Given the description of an element on the screen output the (x, y) to click on. 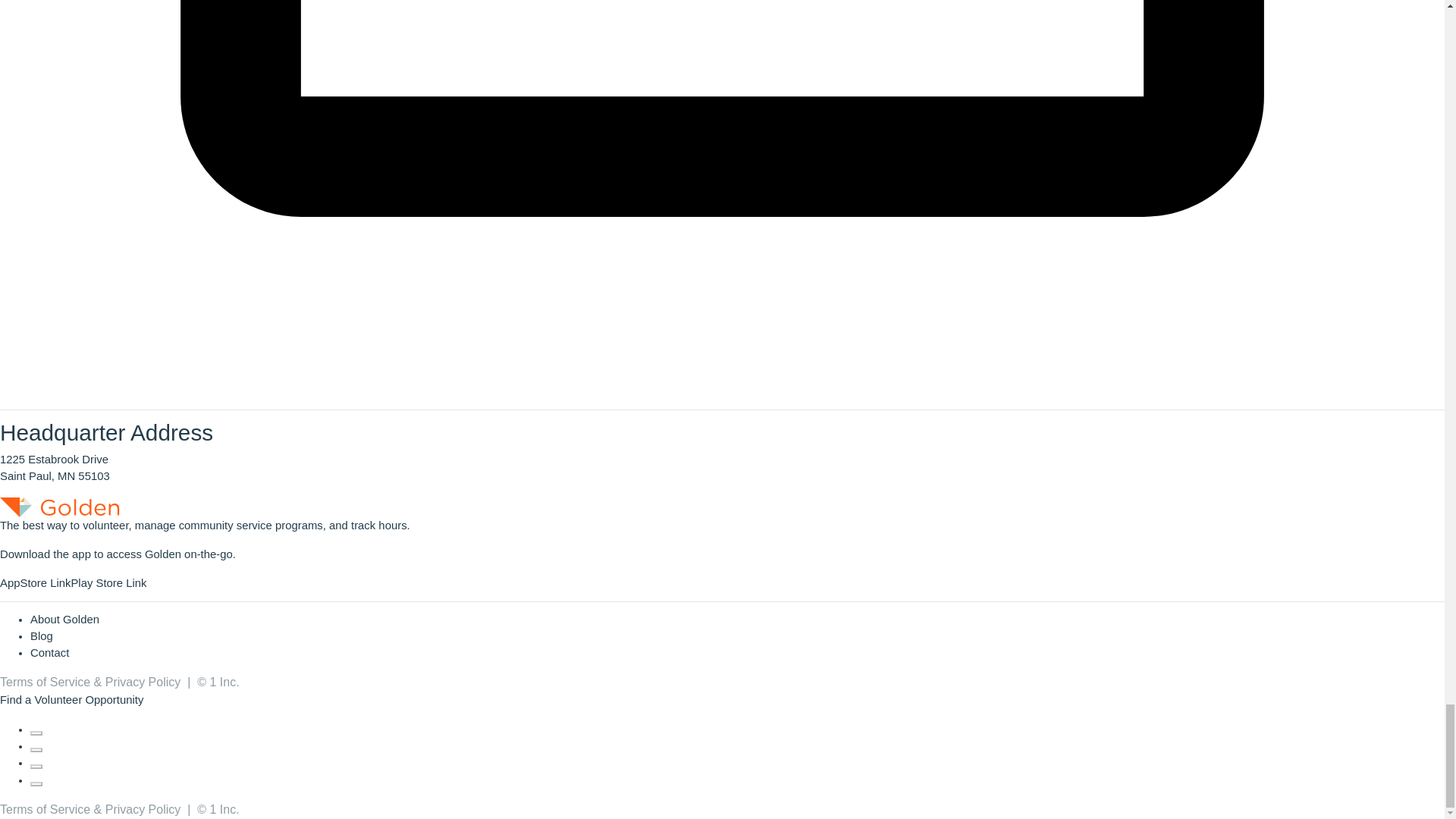
Contact (49, 653)
About Golden (64, 619)
Volunteer Opportunity (87, 699)
Terms of Service (45, 681)
Visit Us On Instagram (36, 762)
Play Store Link (108, 582)
Blog (41, 635)
Visit Us On Twitter (36, 746)
Visit Us On Facebook (36, 729)
Privacy Policy (142, 809)
Volunteer Opportunity (87, 699)
AppStore Link (34, 582)
Contact (49, 653)
Terms of Service (45, 809)
Visit Us On YouTube (36, 779)
